Given the description of an element on the screen output the (x, y) to click on. 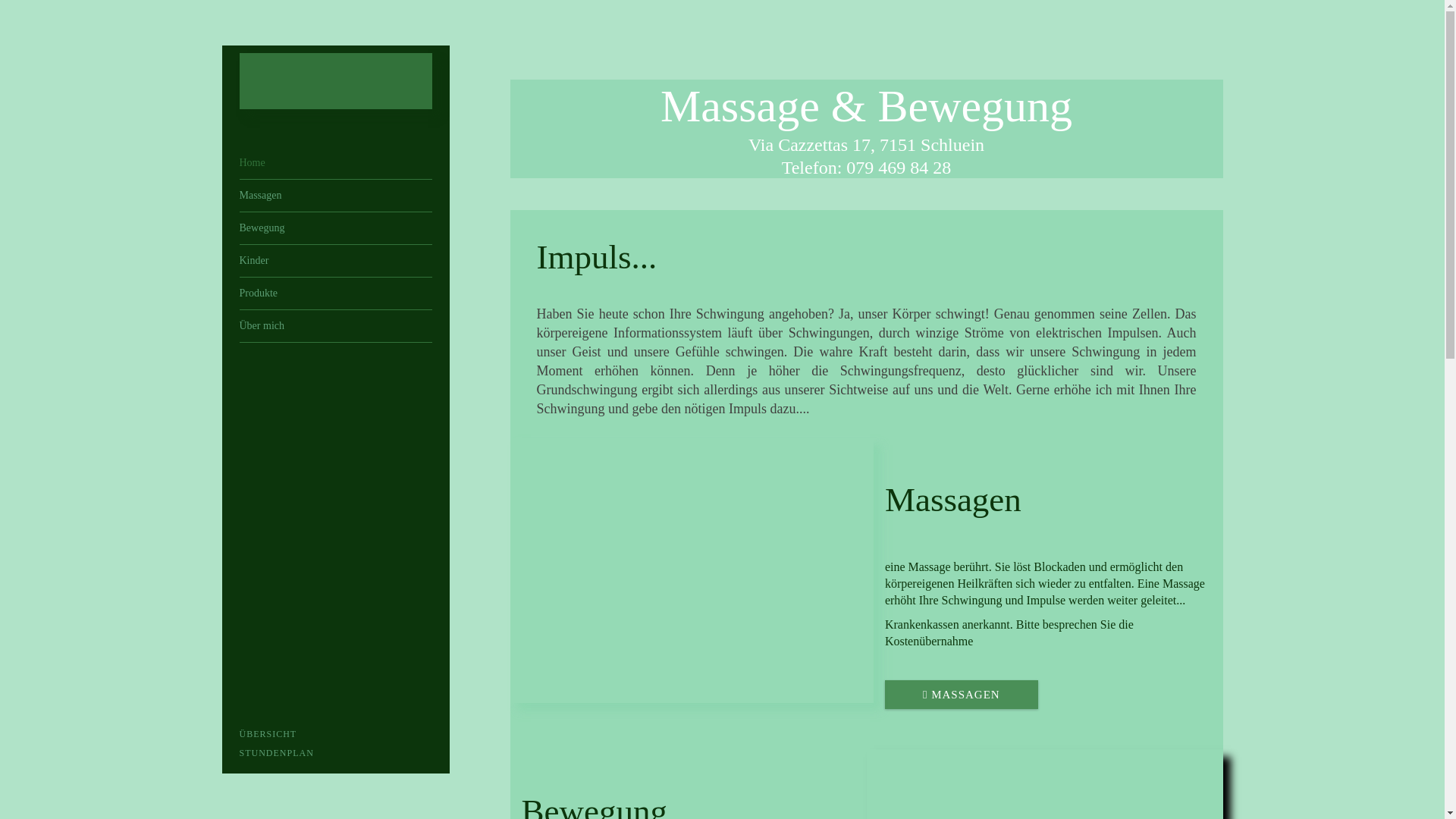
Kinder Element type: text (335, 260)
Massagen Element type: text (335, 195)
Bewegung Element type: text (335, 228)
STUNDENPLAN Element type: text (335, 752)
Produkte Element type: text (335, 293)
Home Element type: text (335, 162)
